Given the description of an element on the screen output the (x, y) to click on. 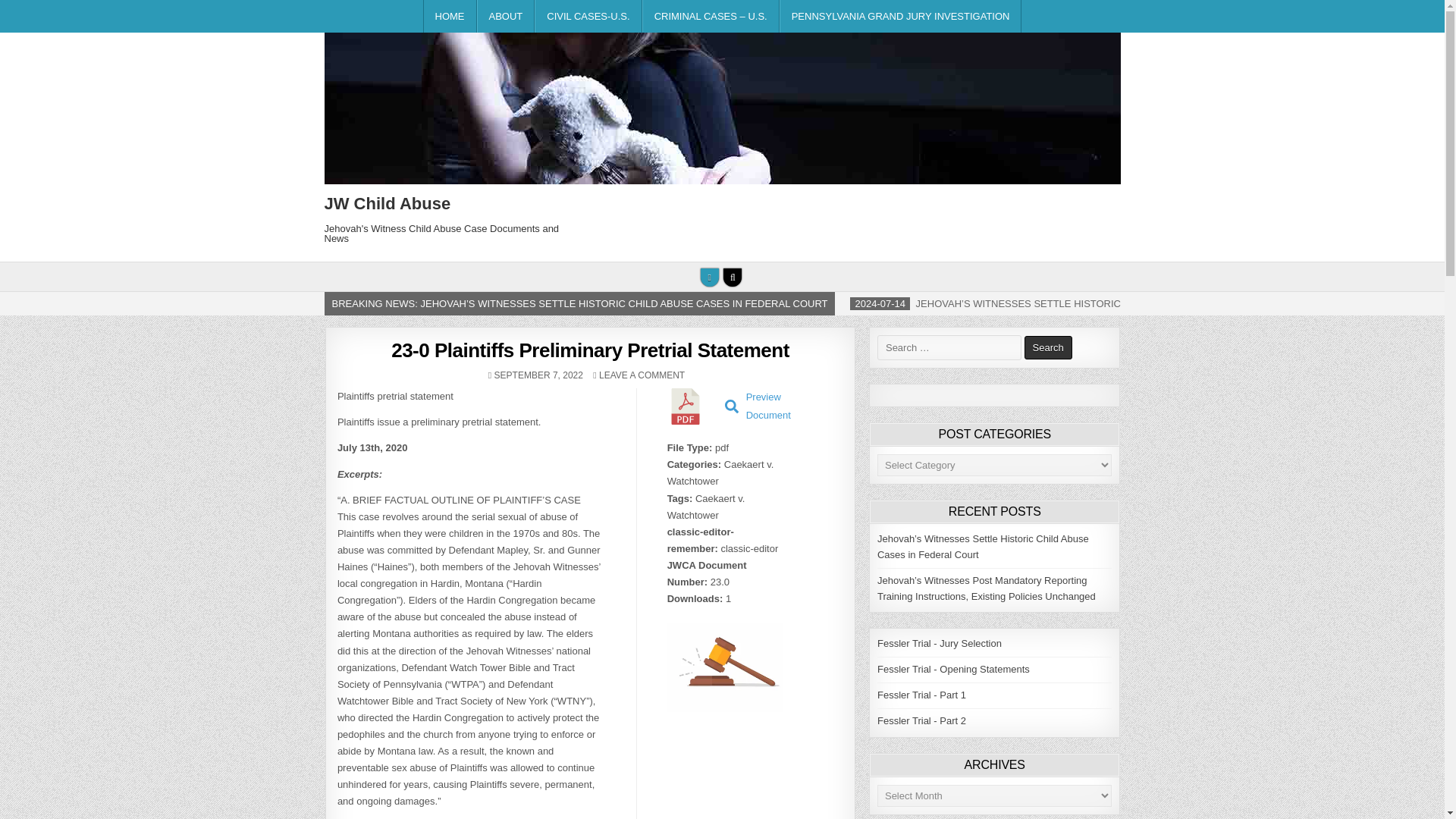
Search (732, 277)
Search (1048, 347)
Search (1048, 347)
ABOUT (506, 16)
Fessler Trial - Opening Statements (953, 668)
23-0 Plaintiffs Preliminary Pretrial Statement (590, 350)
LEAVE A COMMENT (641, 375)
CIVIL CASES-U.S. (588, 16)
JW Child Abuse (387, 203)
HOME (450, 16)
Fessler Trial - Jury Selection (939, 643)
Search (1048, 347)
Preview Document (758, 406)
PENNSYLVANIA GRAND JURY INVESTIGATION (900, 16)
Email Us (709, 277)
